Given the description of an element on the screen output the (x, y) to click on. 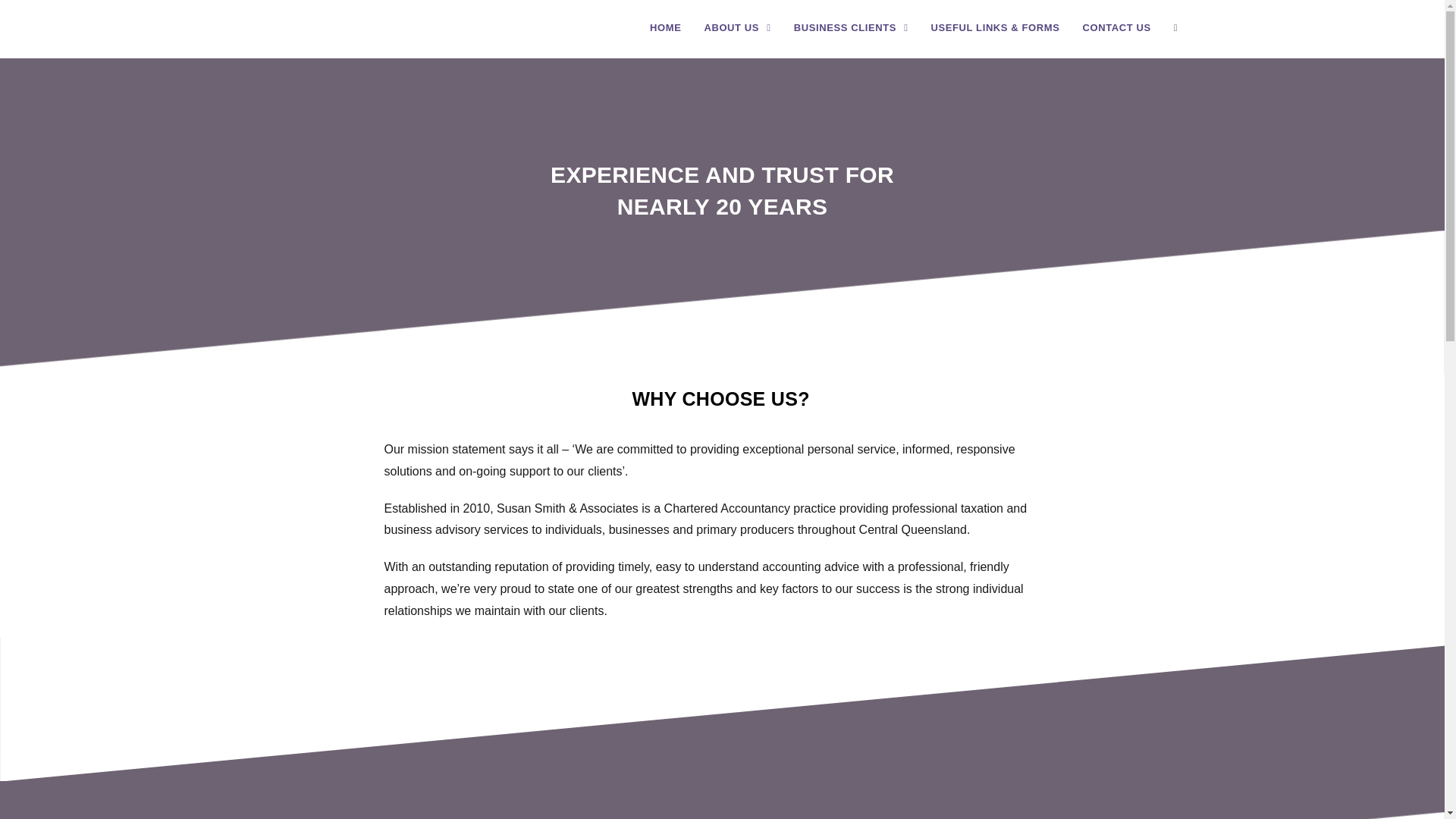
ABOUT US (737, 28)
HOME (666, 28)
BUSINESS CLIENTS (851, 28)
CONTACT US (1115, 28)
